Given the description of an element on the screen output the (x, y) to click on. 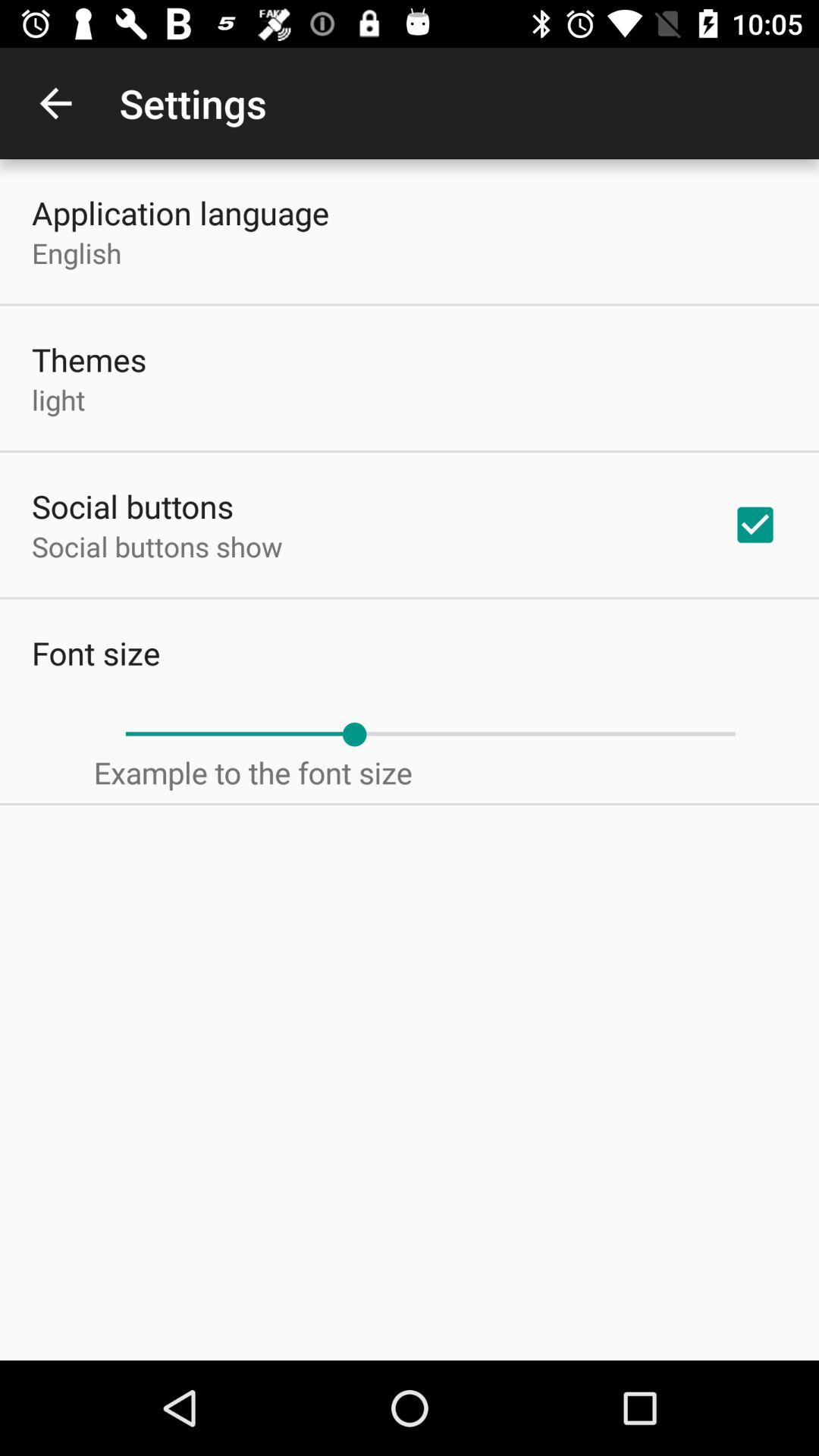
turn off the item above the english icon (180, 212)
